Given the description of an element on the screen output the (x, y) to click on. 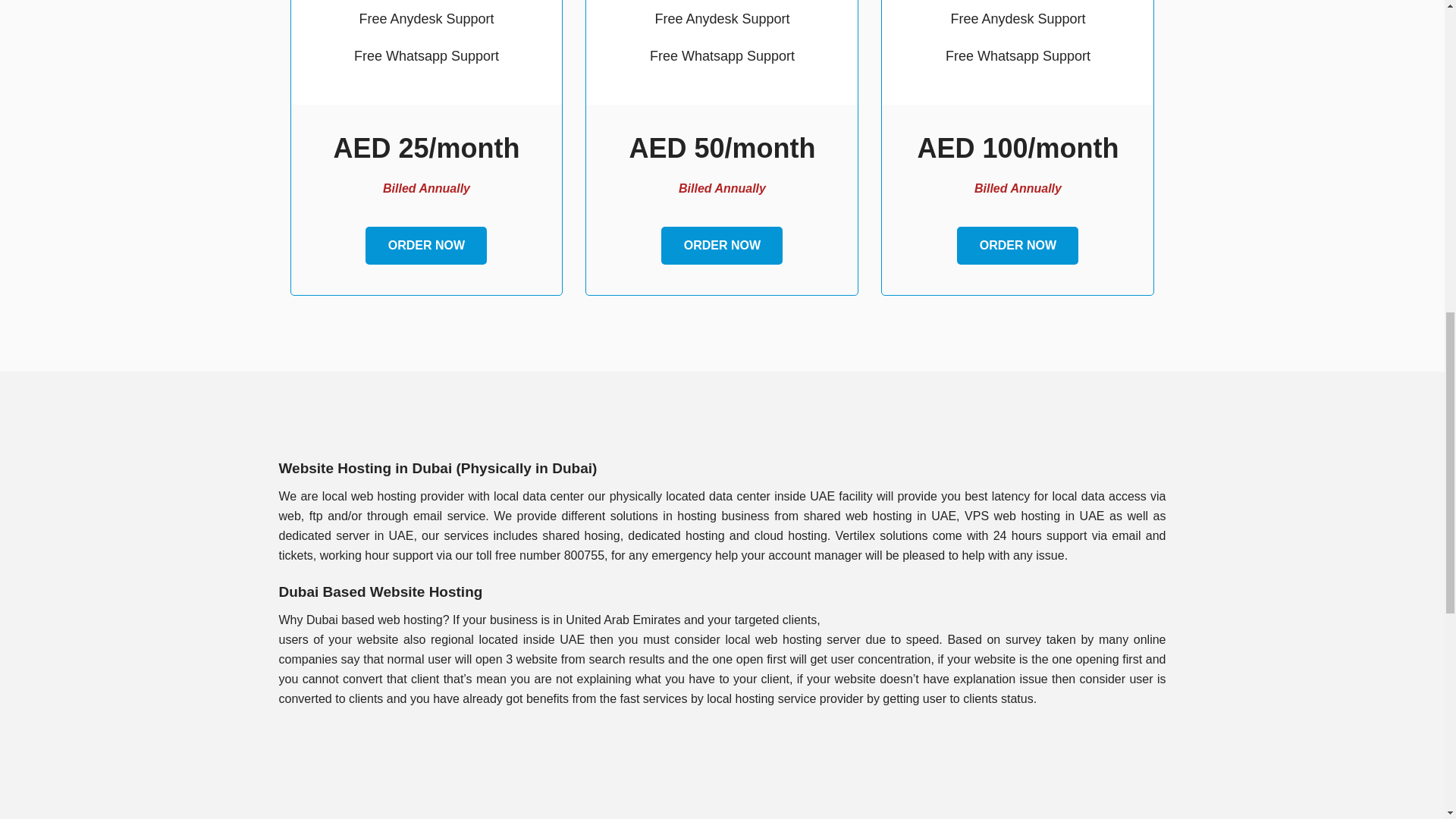
ORDER NOW (425, 245)
ORDER NOW (722, 245)
ORDER NOW (1017, 245)
